Given the description of an element on the screen output the (x, y) to click on. 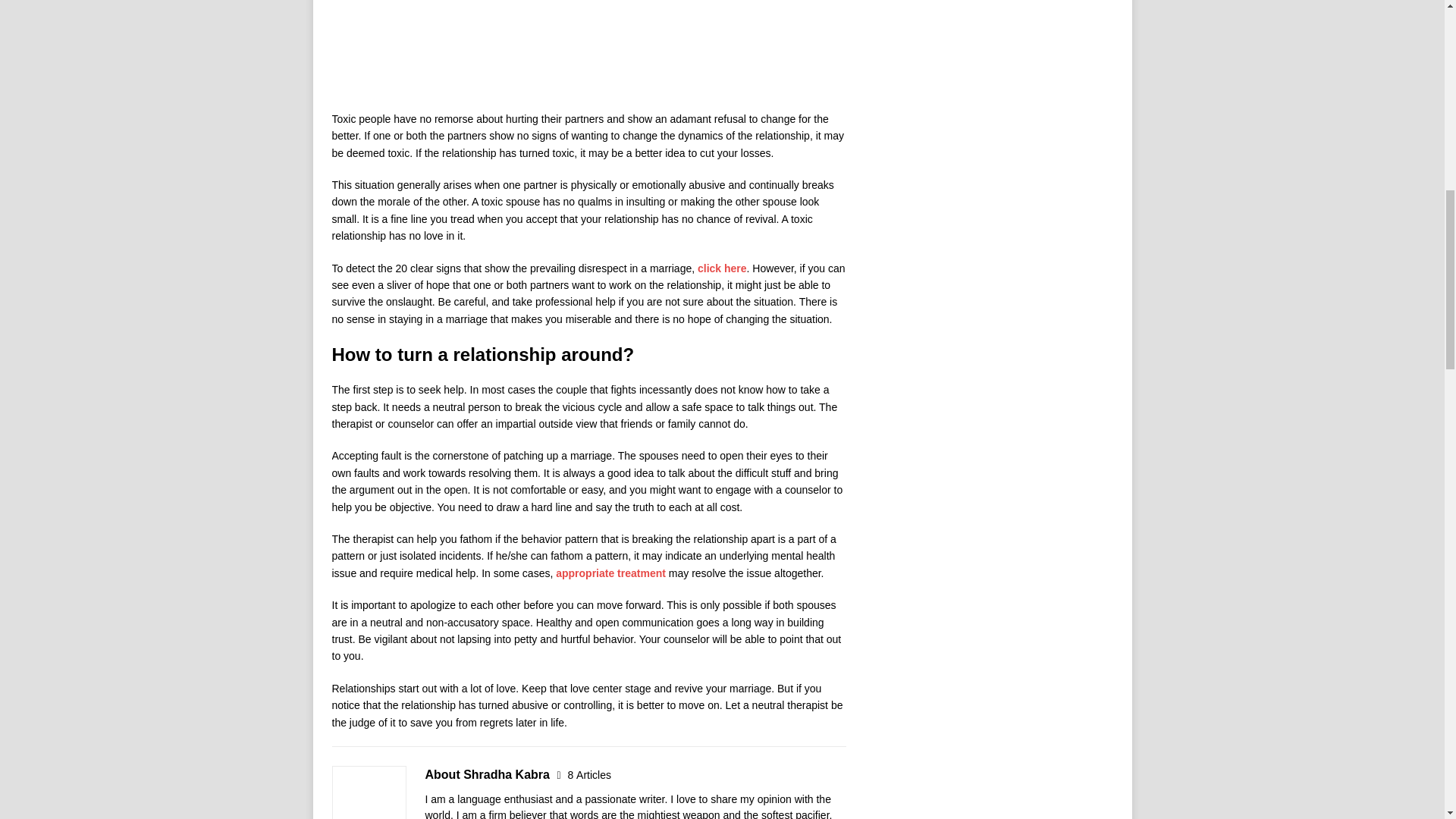
8 Articles (589, 775)
More articles written by Shradha Kabra' (589, 775)
appropriate treatment (612, 573)
Advertisement (588, 51)
click here (721, 268)
